Given the description of an element on the screen output the (x, y) to click on. 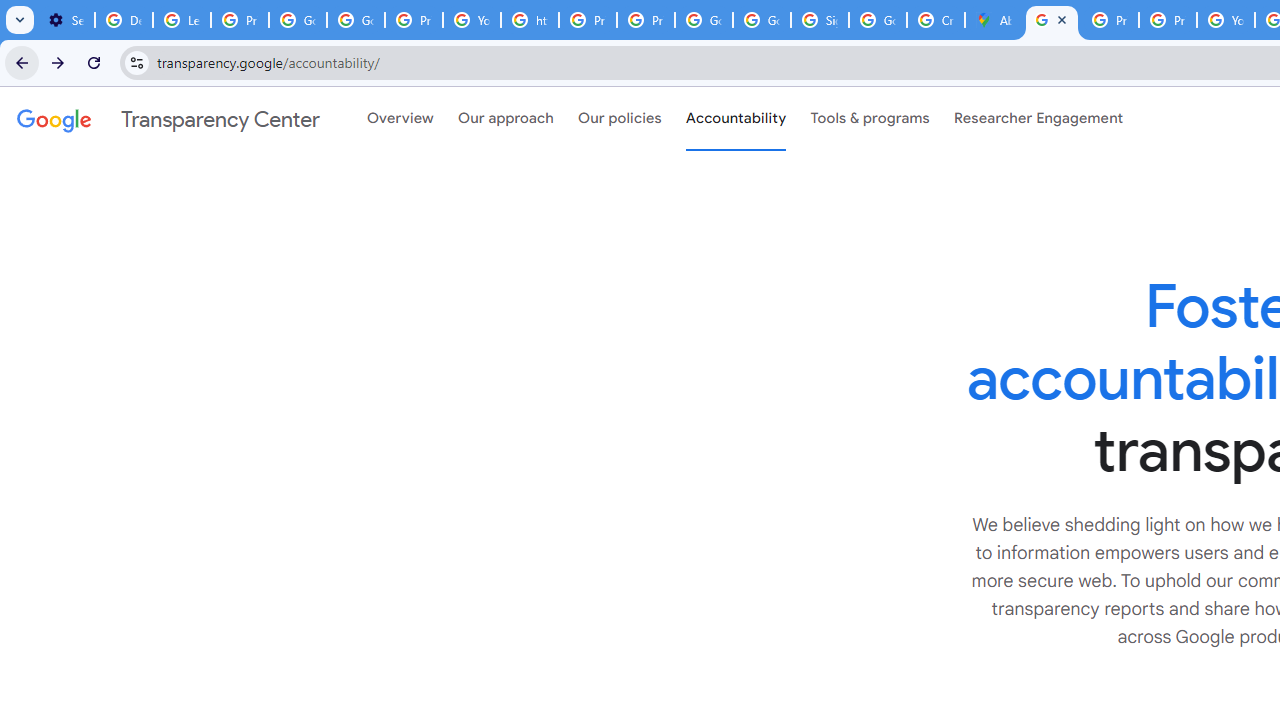
Policy Accountability and Transparency - Transparency Center (1051, 20)
https://scholar.google.com/ (529, 20)
YouTube (1225, 20)
Privacy Help Center - Policies Help (1110, 20)
Delete photos & videos - Computer - Google Photos Help (123, 20)
Settings - On startup (65, 20)
Transparency Center (167, 119)
